Given the description of an element on the screen output the (x, y) to click on. 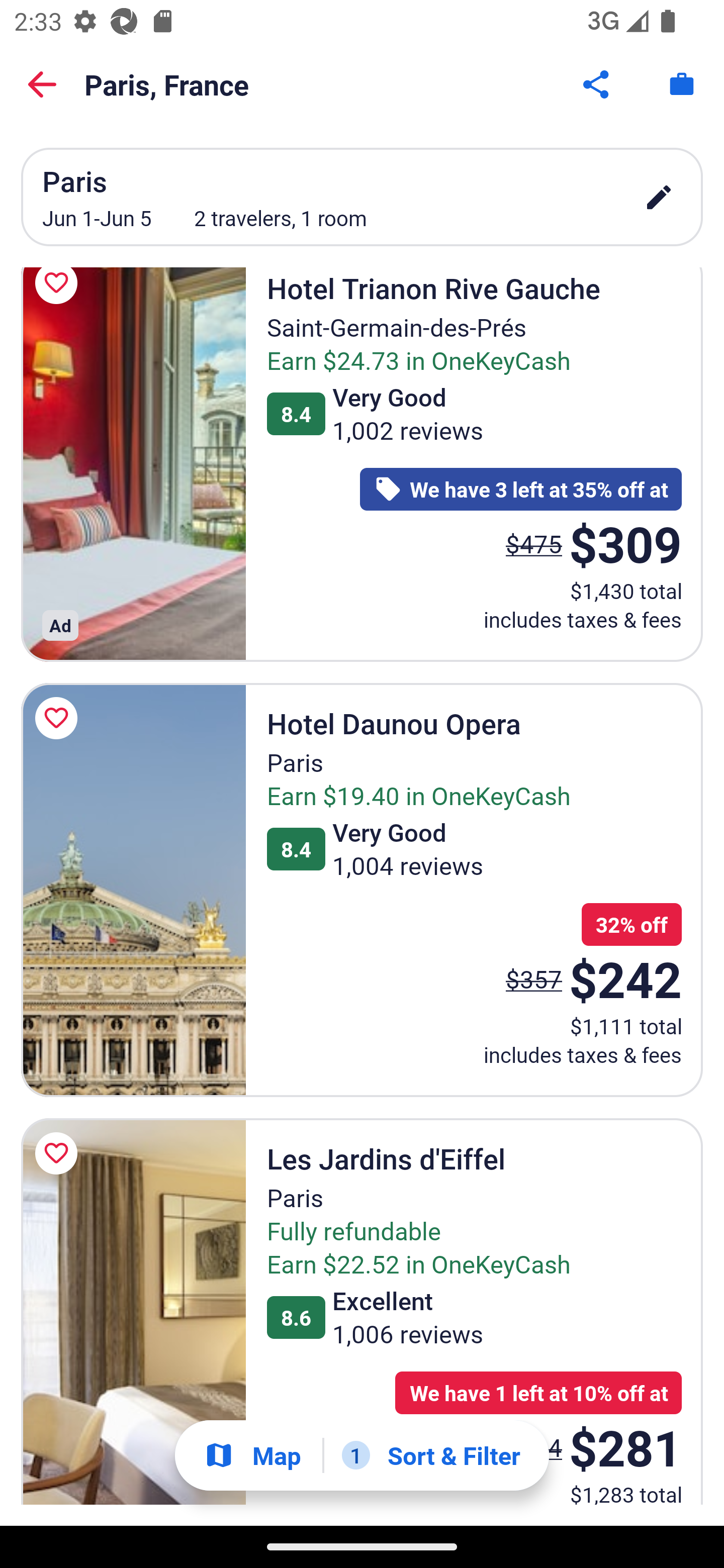
Back (42, 84)
Share Button (597, 84)
Trips. Button (681, 84)
Paris Jun 1-Jun 5 2 travelers, 1 room edit (361, 196)
Hotel Trianon Rive Gauche (133, 464)
Save Hotel Trianon Rive Gauche to a trip (59, 296)
$475 The price was $475 (533, 543)
Save Hotel Daunou Opera to a trip (59, 717)
Hotel Daunou Opera (133, 890)
$357 The price was $357 (533, 978)
Save Les Jardins d'Eiffel to a trip (59, 1152)
Les Jardins d'Eiffel (133, 1311)
1 Sort & Filter 1 Filter applied. Filters Button (430, 1455)
Show map Map Show map Button (252, 1455)
